Given the description of an element on the screen output the (x, y) to click on. 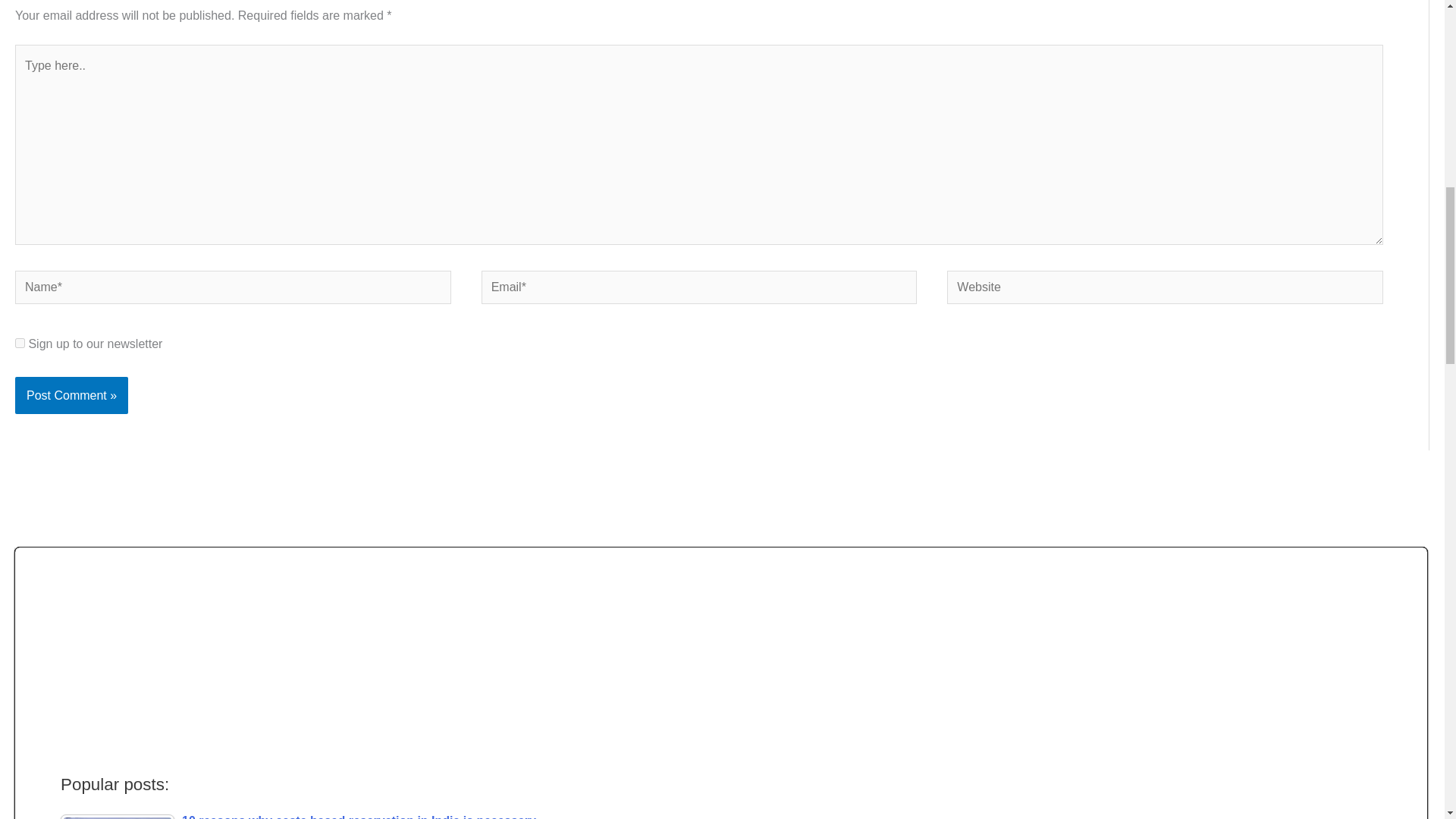
10 reasons why caste based reservation in India is necessary (117, 816)
1 (19, 343)
